Given the description of an element on the screen output the (x, y) to click on. 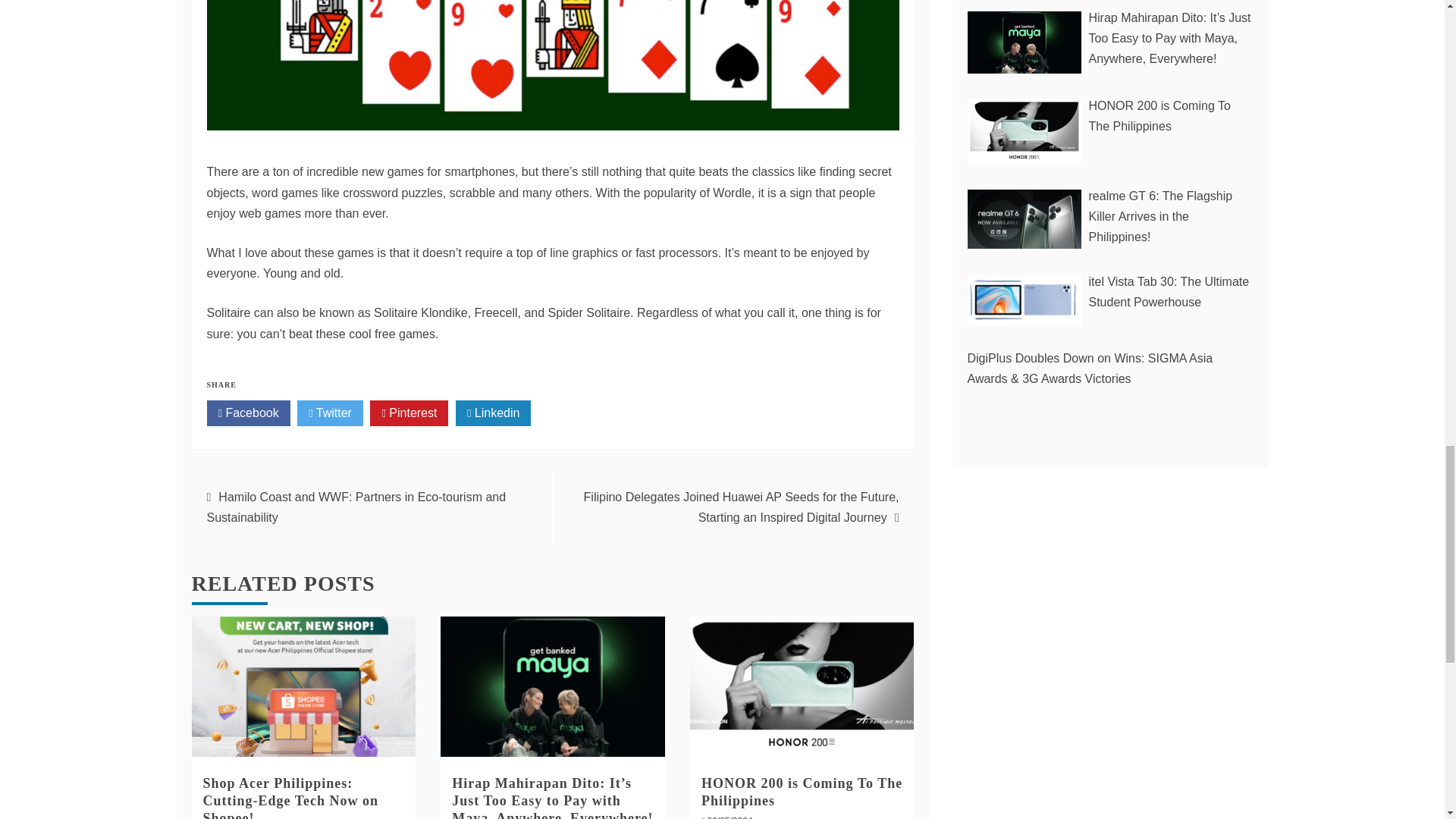
HONOR 200 is Coming To The Philippines (801, 791)
Linkedin (493, 412)
Pinterest (408, 412)
Facebook (247, 412)
Shop Acer Philippines: Cutting-Edge Tech Now on Shopee! (290, 797)
Twitter (329, 412)
